Given the description of an element on the screen output the (x, y) to click on. 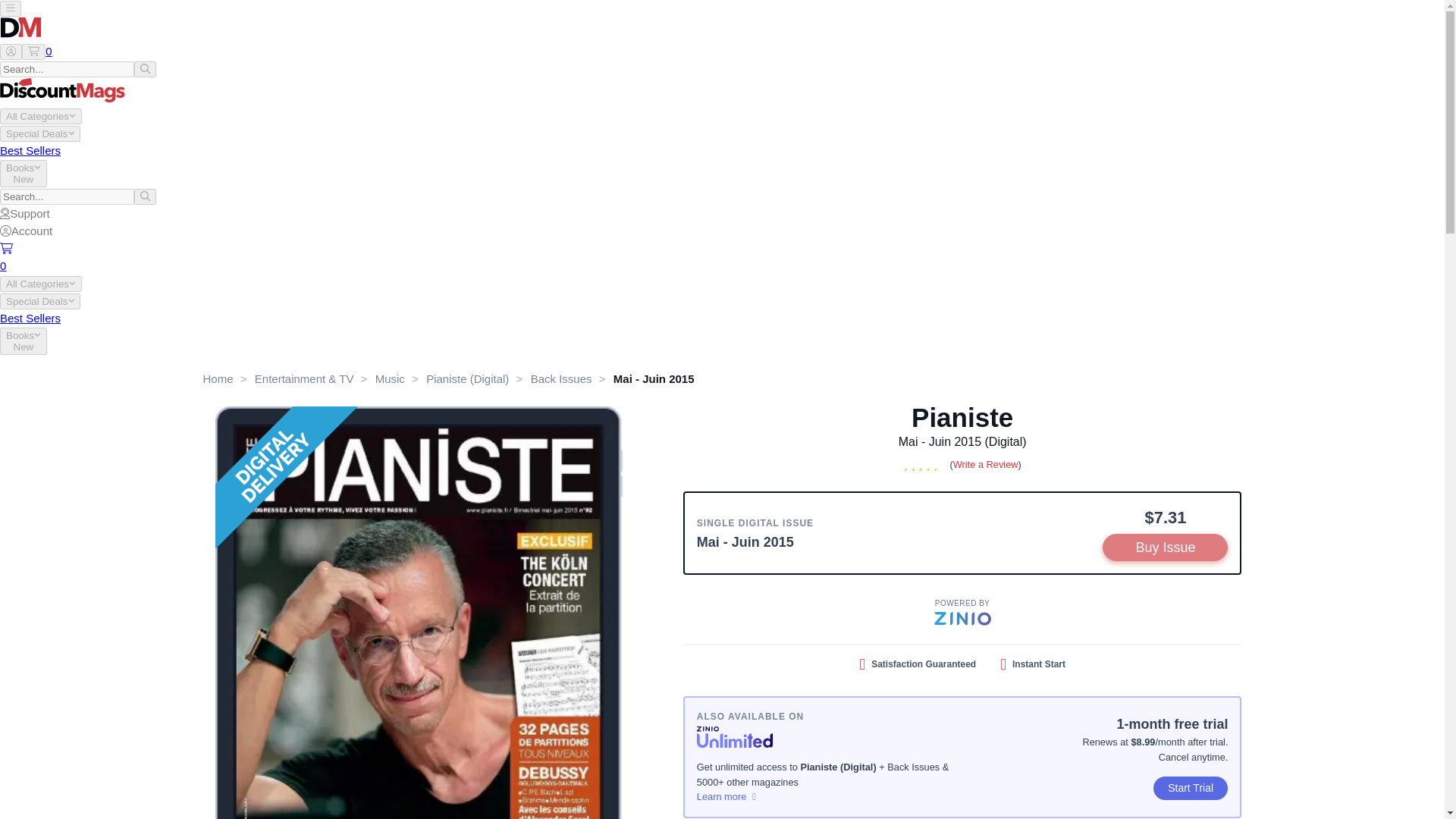
Home (217, 378)
Music (389, 378)
Learn more (829, 796)
Buy Issue (1164, 547)
Start Trial (1190, 788)
Write a Review (985, 464)
Back Issues (561, 378)
